Given the description of an element on the screen output the (x, y) to click on. 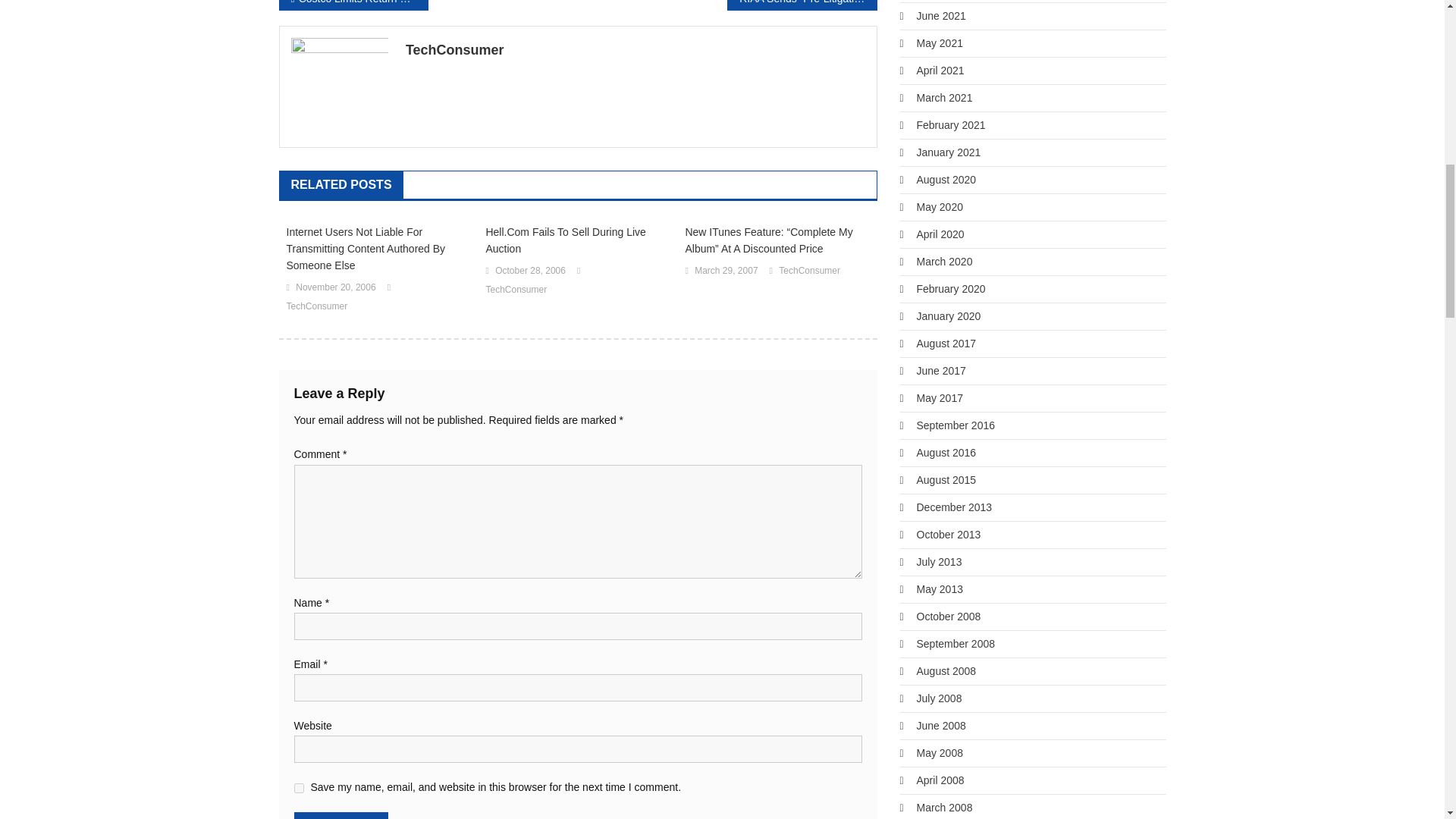
November 20, 2006 (335, 288)
TechConsumer (316, 306)
Post Comment (341, 815)
TechConsumer (809, 271)
Post Comment (341, 815)
yes (299, 787)
TechConsumer (515, 289)
March 29, 2007 (725, 271)
